Given the description of an element on the screen output the (x, y) to click on. 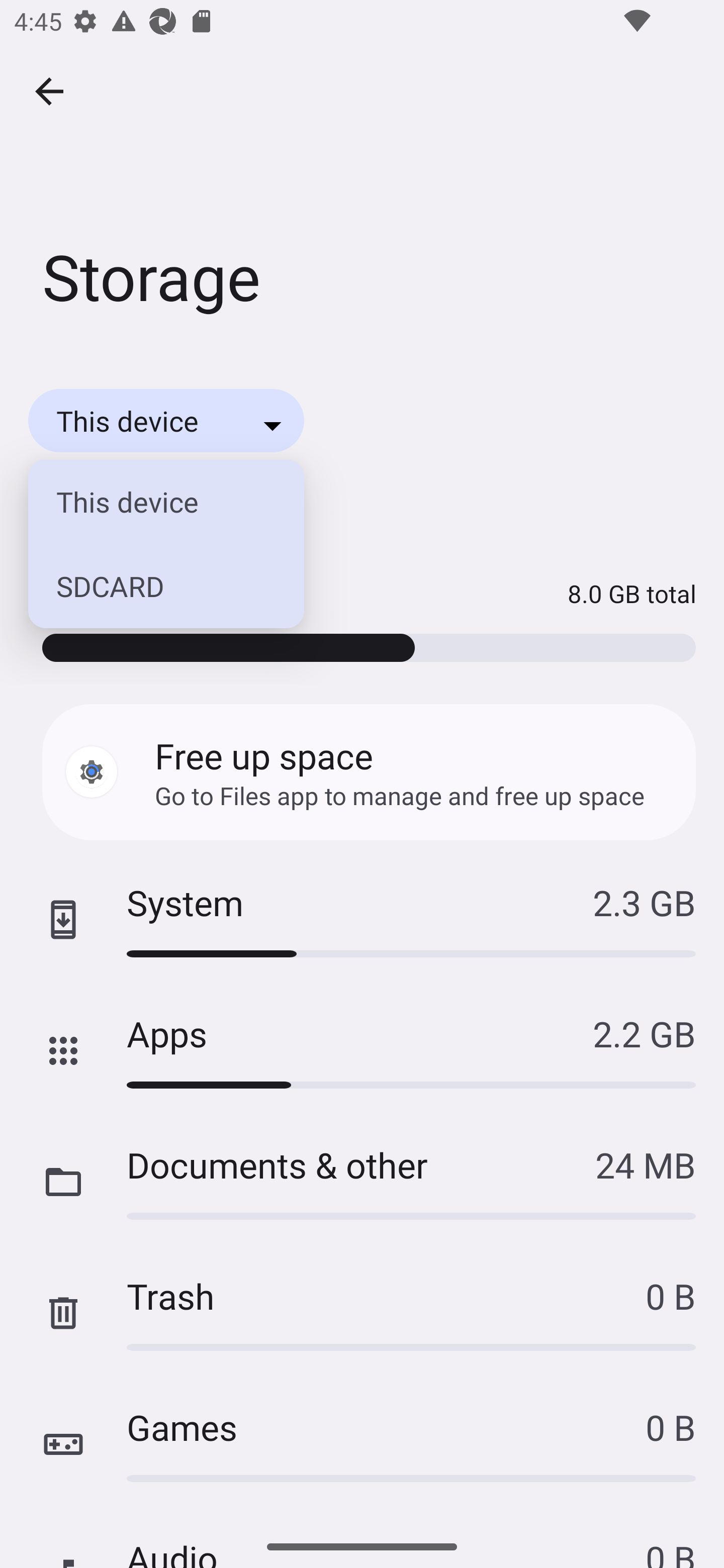
This device (155, 501)
SDCARD (155, 586)
